Given the description of an element on the screen output the (x, y) to click on. 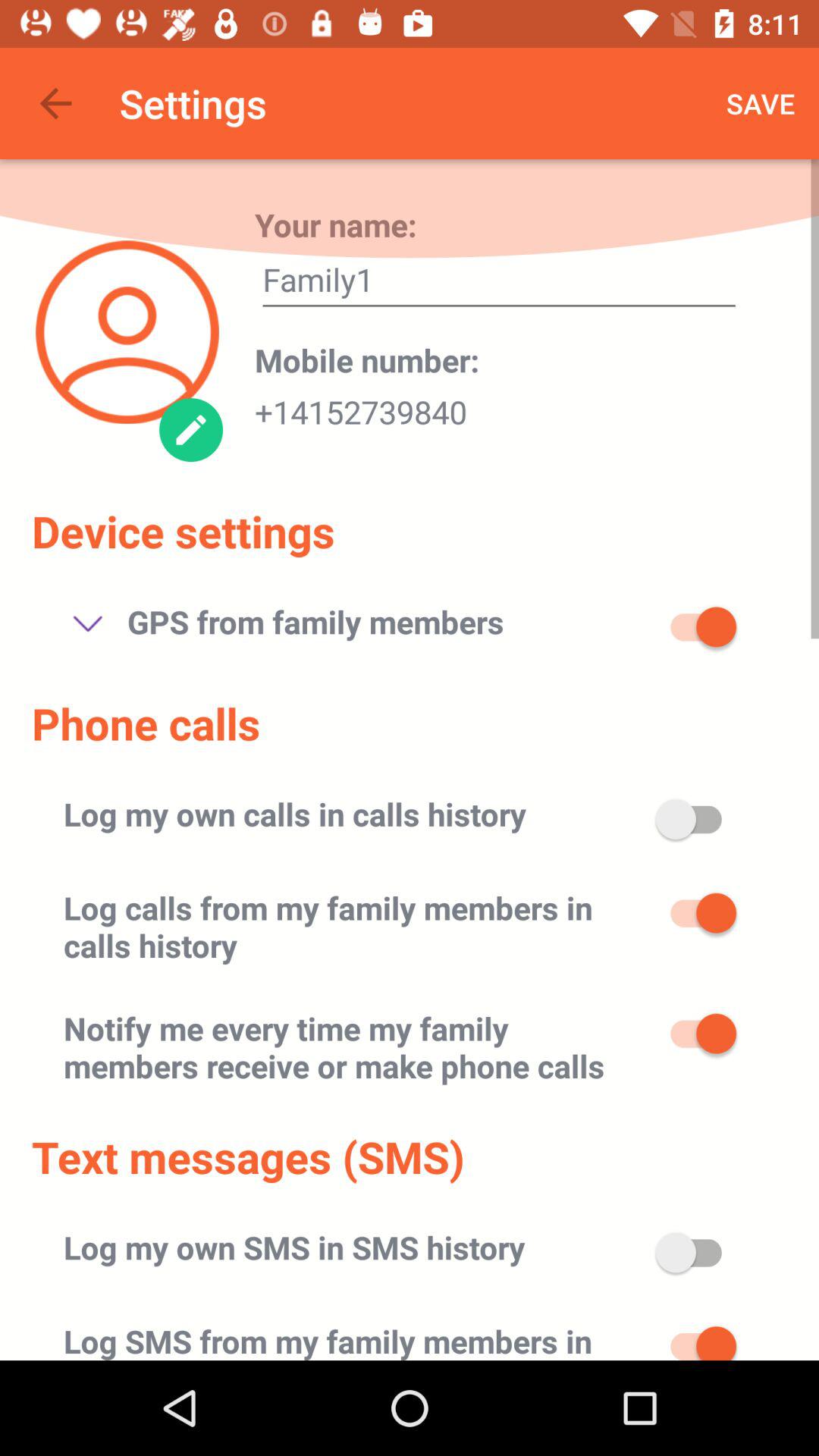
swipe until family1 icon (498, 284)
